Given the description of an element on the screen output the (x, y) to click on. 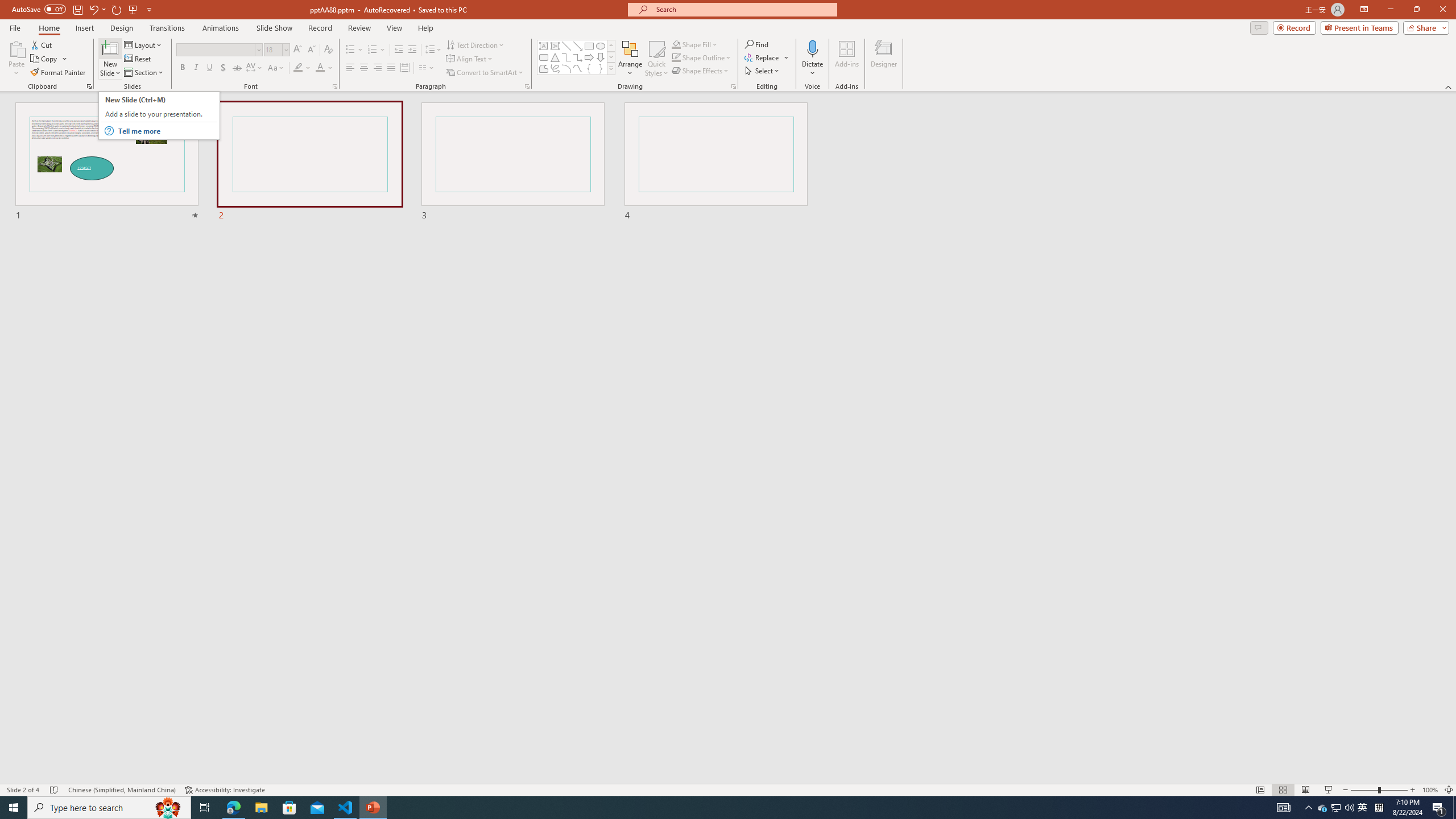
Justify (390, 67)
Shape Outline (701, 56)
Bold (182, 67)
Replace... (762, 56)
Collapse the Ribbon (1448, 86)
Help (425, 28)
Align Right (377, 67)
Minimize (1390, 9)
Copy (49, 58)
Bullets (354, 49)
Font Size (276, 49)
Rectangle (589, 45)
Close (1442, 9)
Select (762, 69)
